Given the description of an element on the screen output the (x, y) to click on. 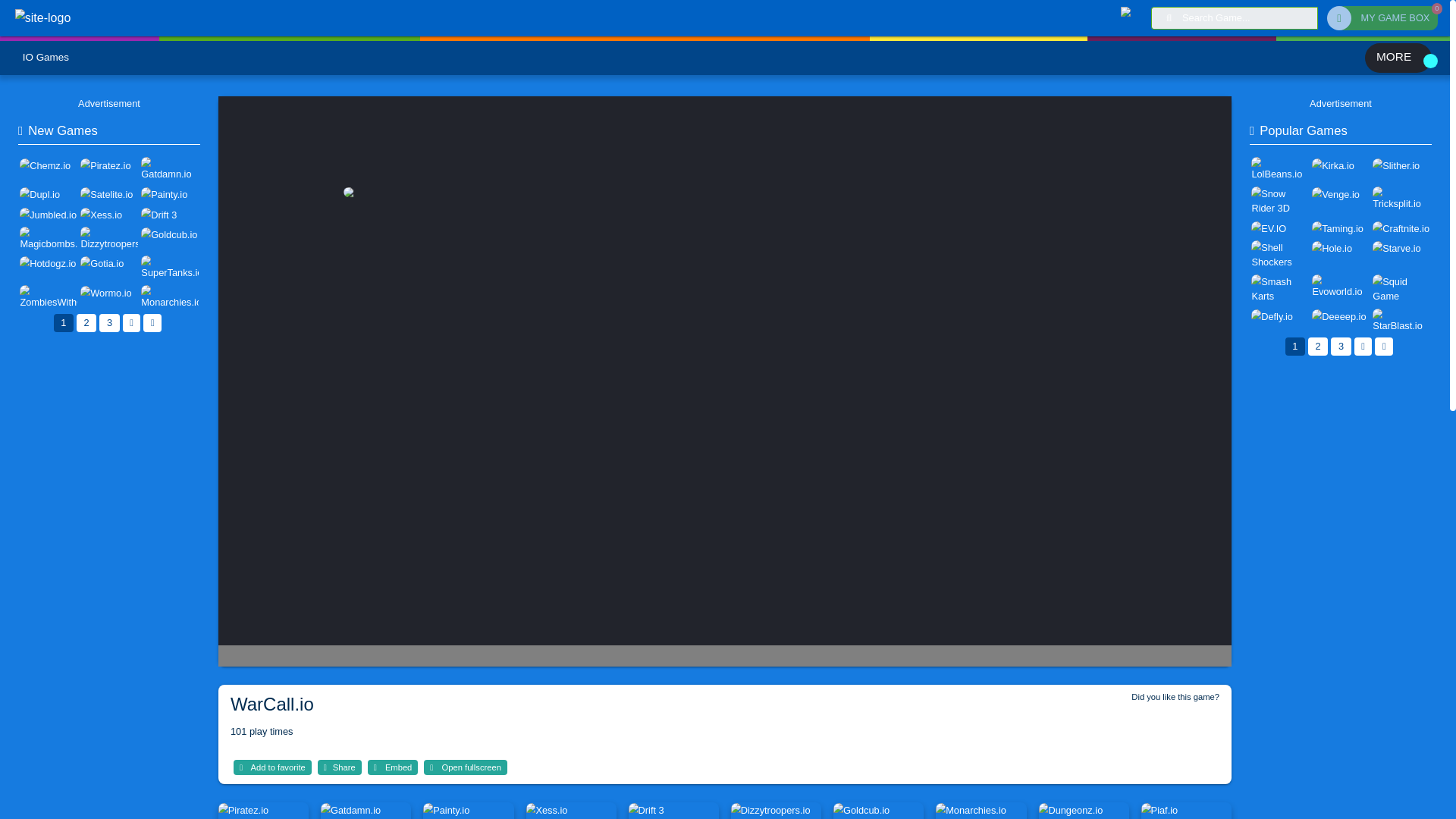
1 (78, 404)
MORE (1439, 60)
New Games (72, 162)
2 (108, 404)
IO Games (47, 60)
3 (136, 404)
